Given the description of an element on the screen output the (x, y) to click on. 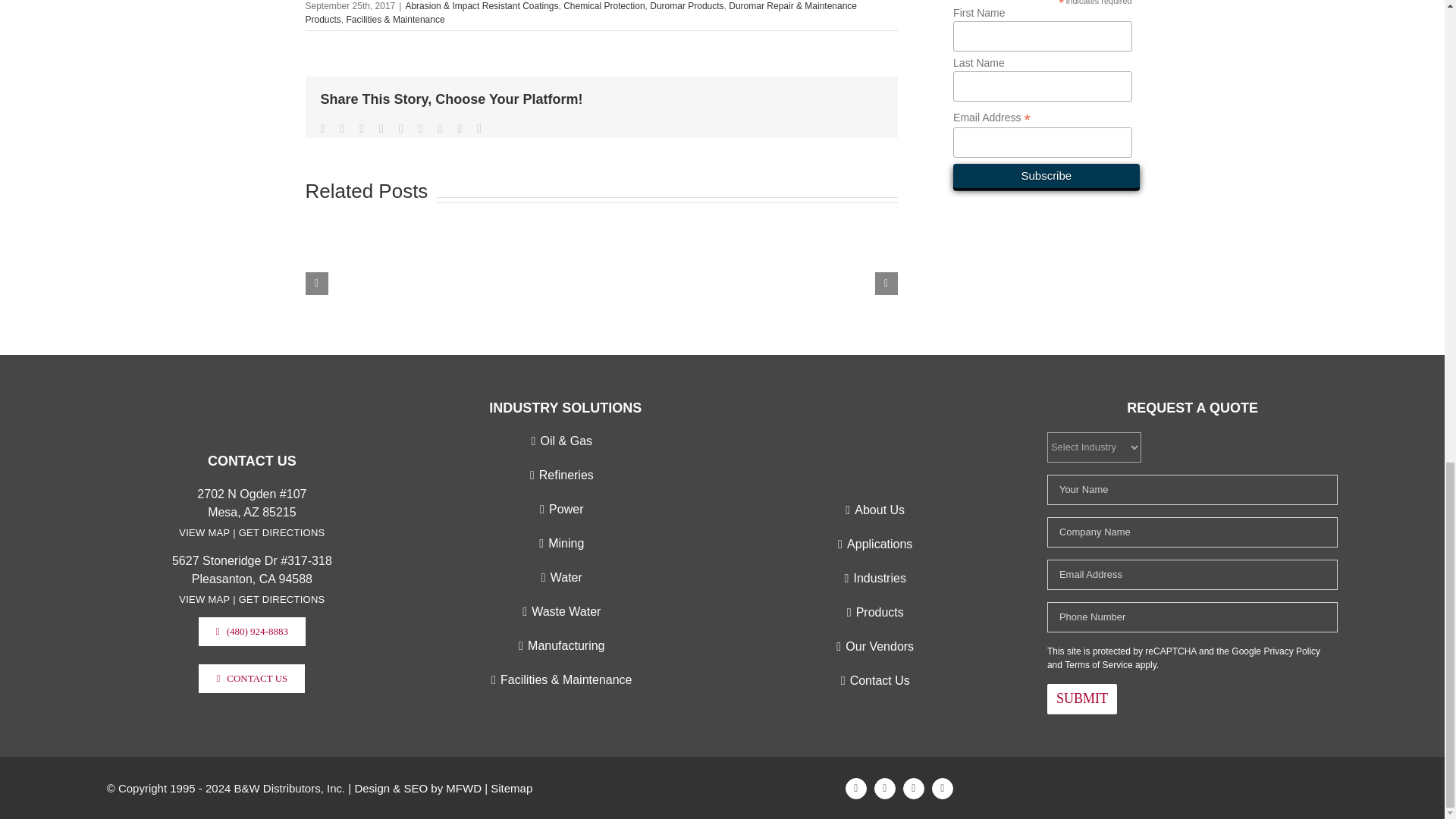
Submit (1081, 698)
Subscribe (1045, 175)
Facebook (855, 788)
